Given the description of an element on the screen output the (x, y) to click on. 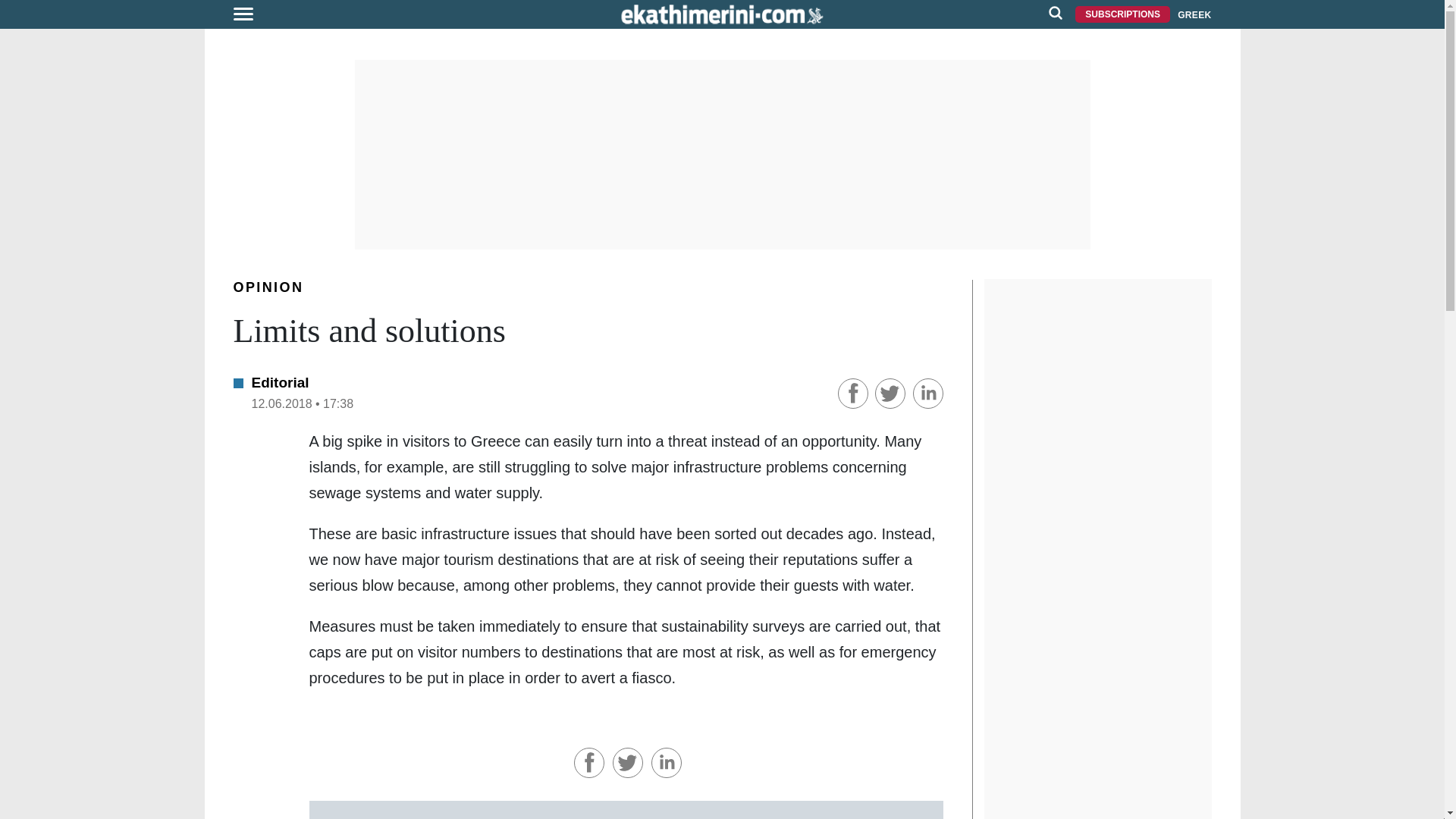
View all posts by Editorial (279, 382)
